Given the description of an element on the screen output the (x, y) to click on. 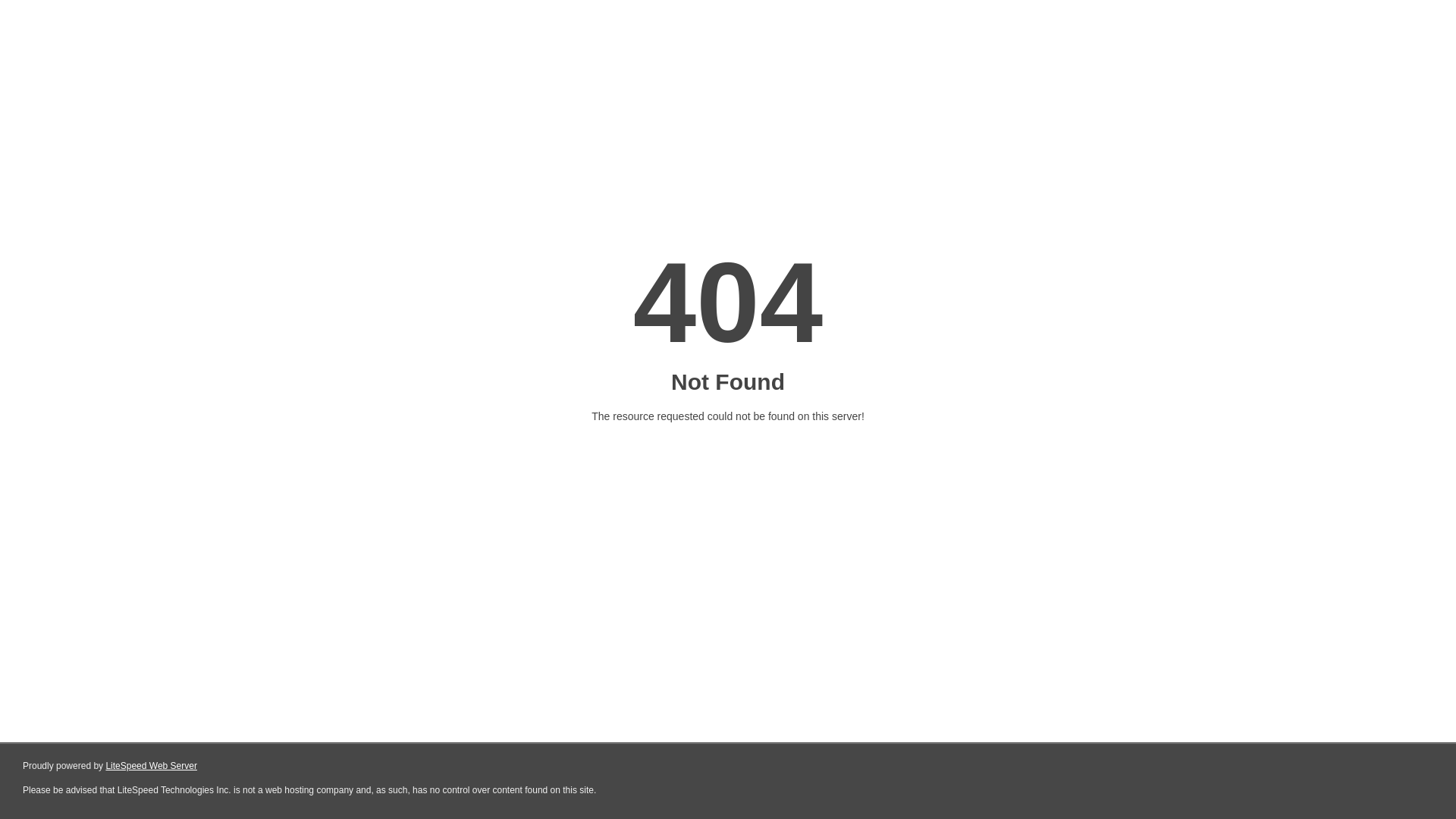
LiteSpeed Web Server Element type: text (151, 765)
